Given the description of an element on the screen output the (x, y) to click on. 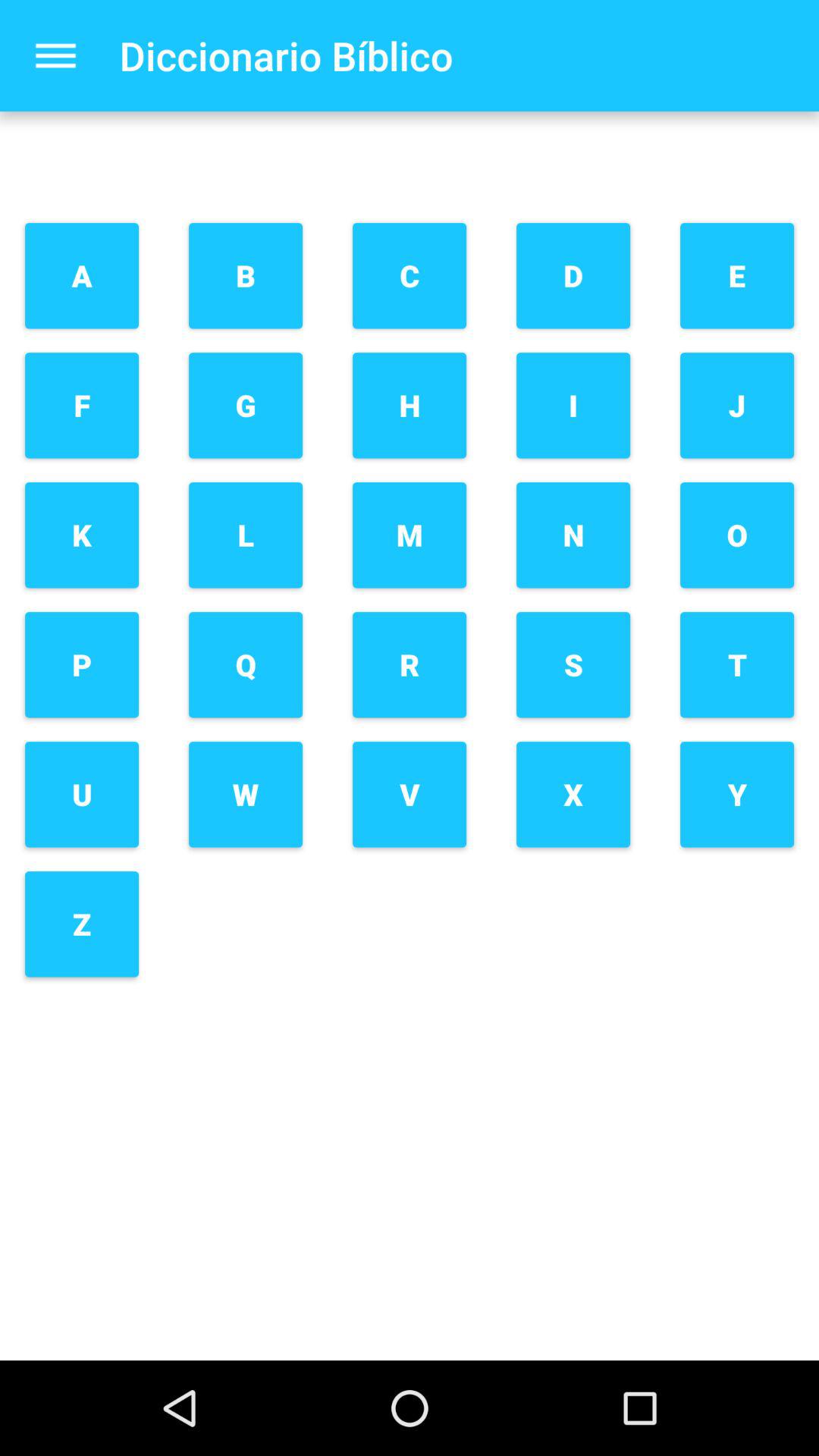
select button next to s (409, 794)
